Given the description of an element on the screen output the (x, y) to click on. 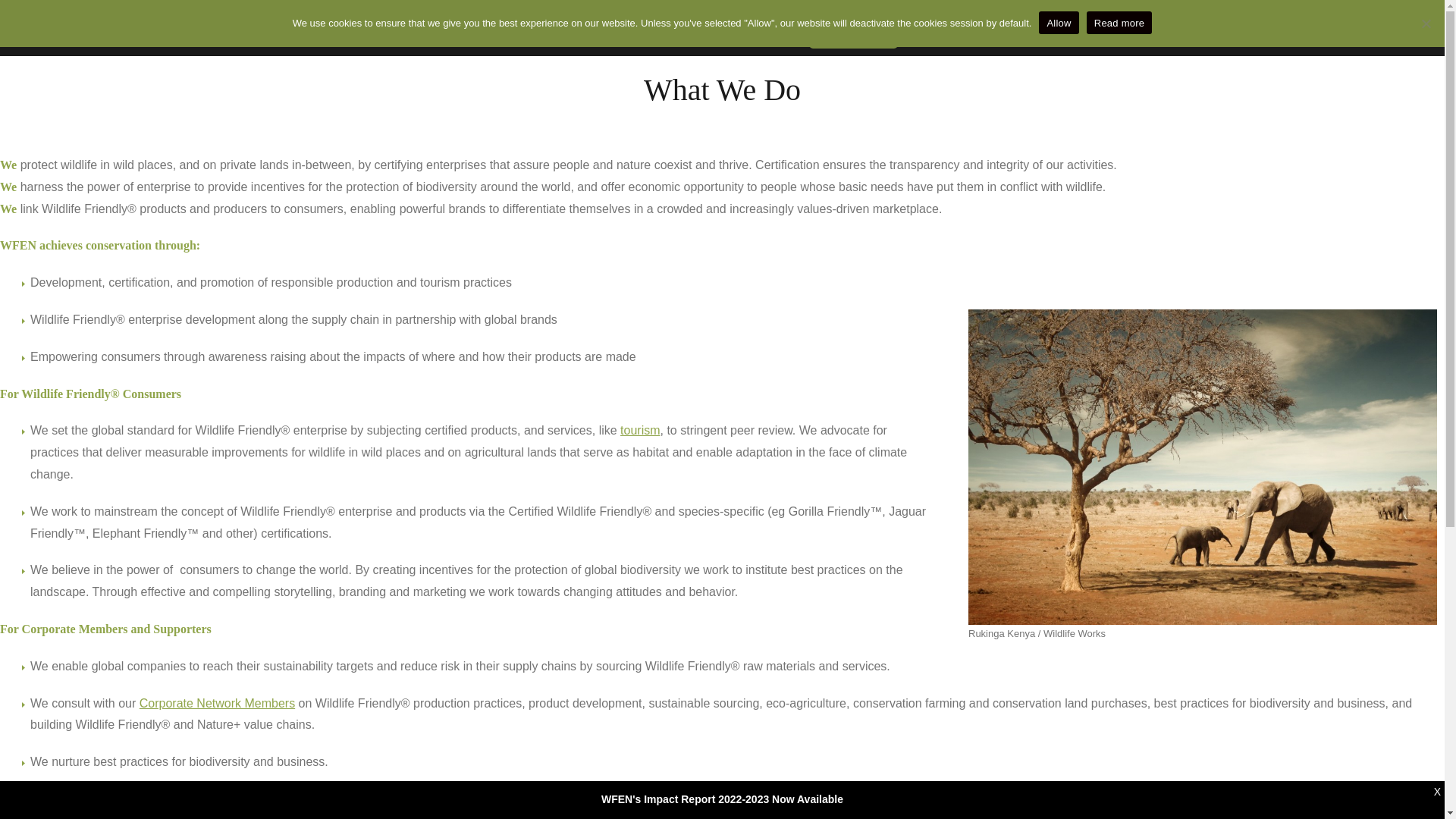
Partner with WFEN (609, 26)
About Us (515, 26)
WFEN's Impact Report 2022-2023 Now Available (722, 799)
Partner with WFEN (609, 26)
Media (695, 26)
About Us (515, 26)
